Given the description of an element on the screen output the (x, y) to click on. 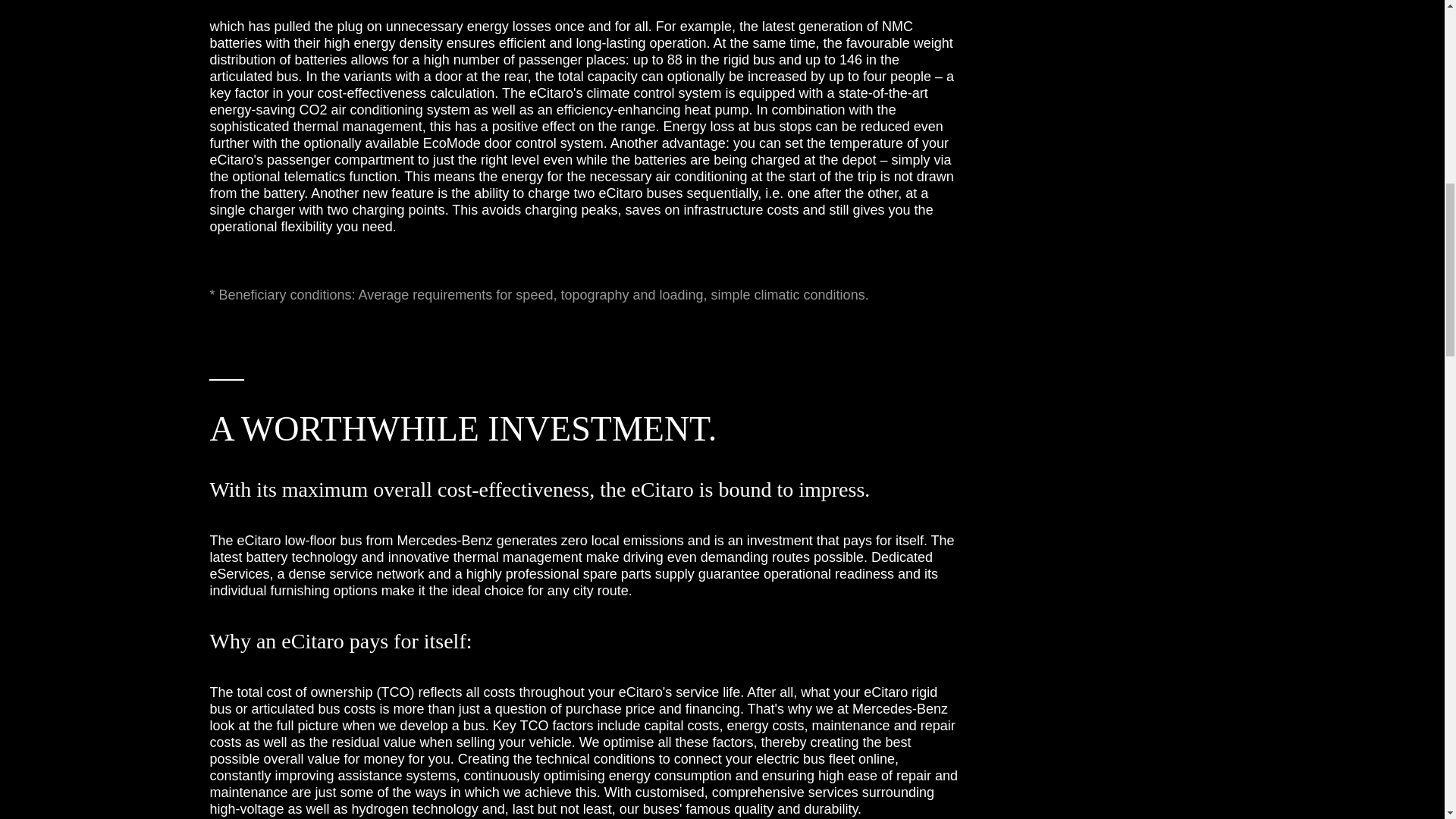
A WORTHWHILE INVESTMENT. (583, 413)
Why an eCitaro pays for itself: (583, 641)
